Given the description of an element on the screen output the (x, y) to click on. 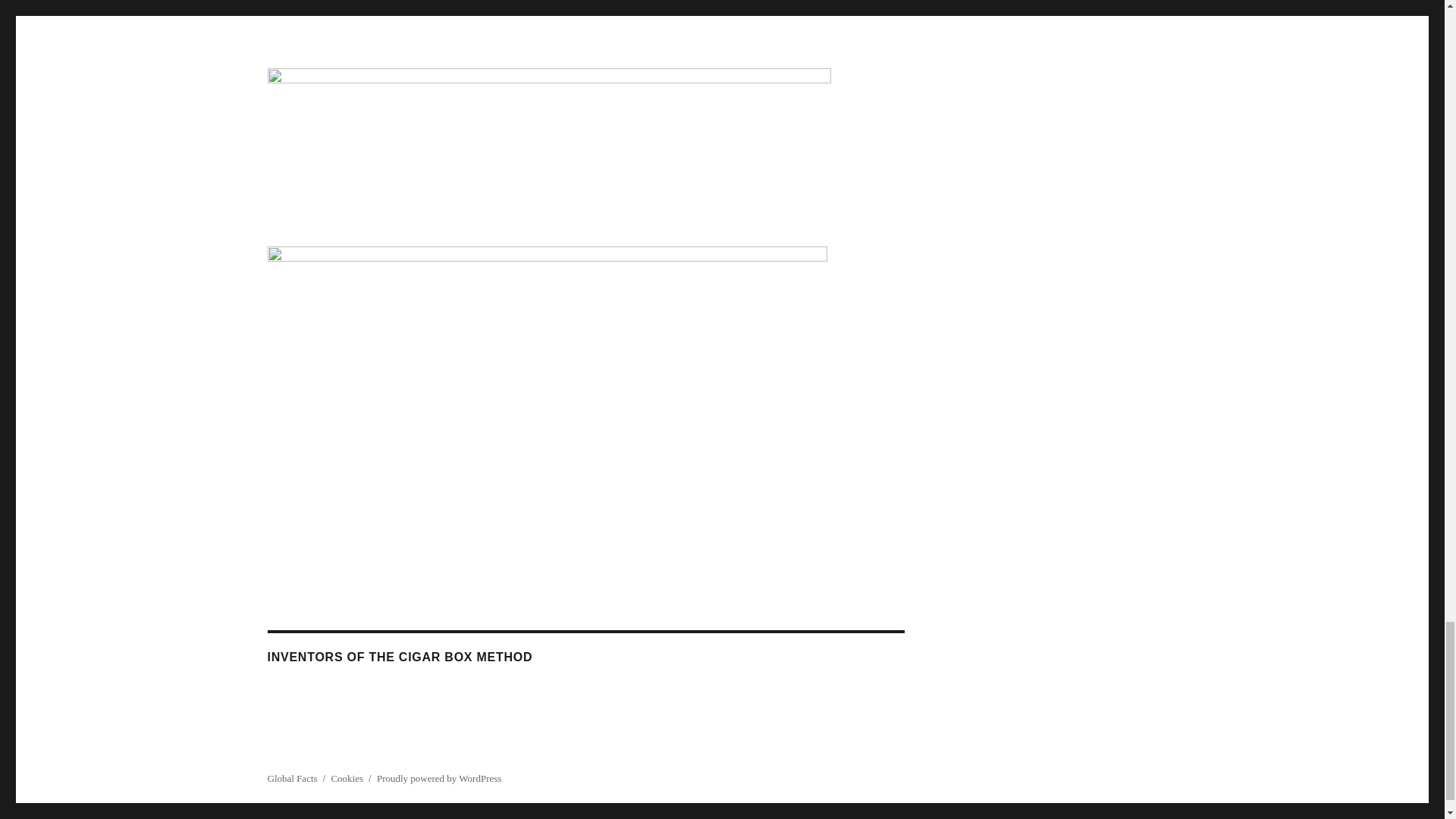
Cookies (346, 778)
Proudly powered by WordPress (438, 778)
Global Facts (291, 778)
